Given the description of an element on the screen output the (x, y) to click on. 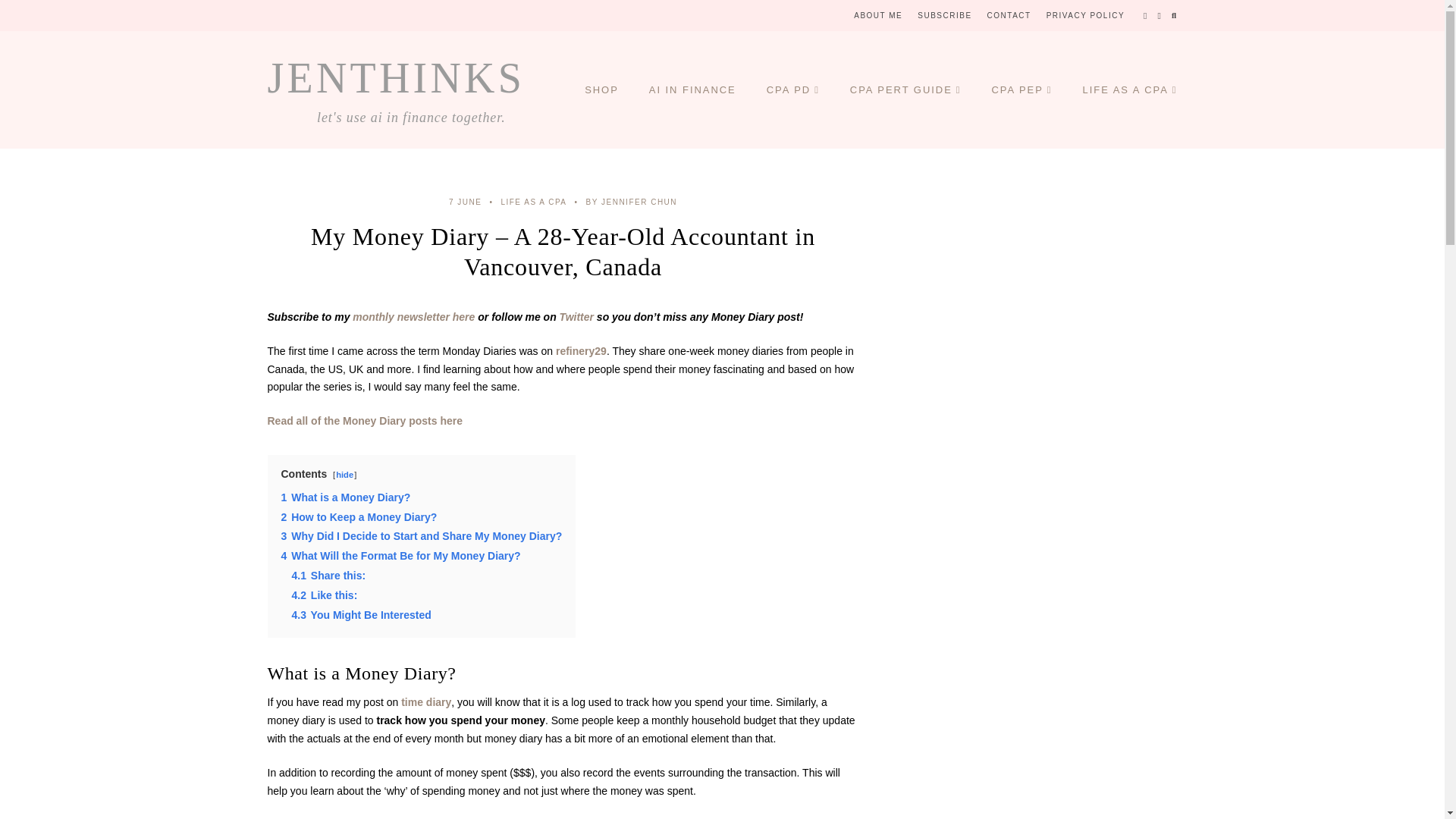
View all posts in Life as a CPA (533, 202)
Jennifer Chun (632, 202)
jenthinks (395, 77)
